Given the description of an element on the screen output the (x, y) to click on. 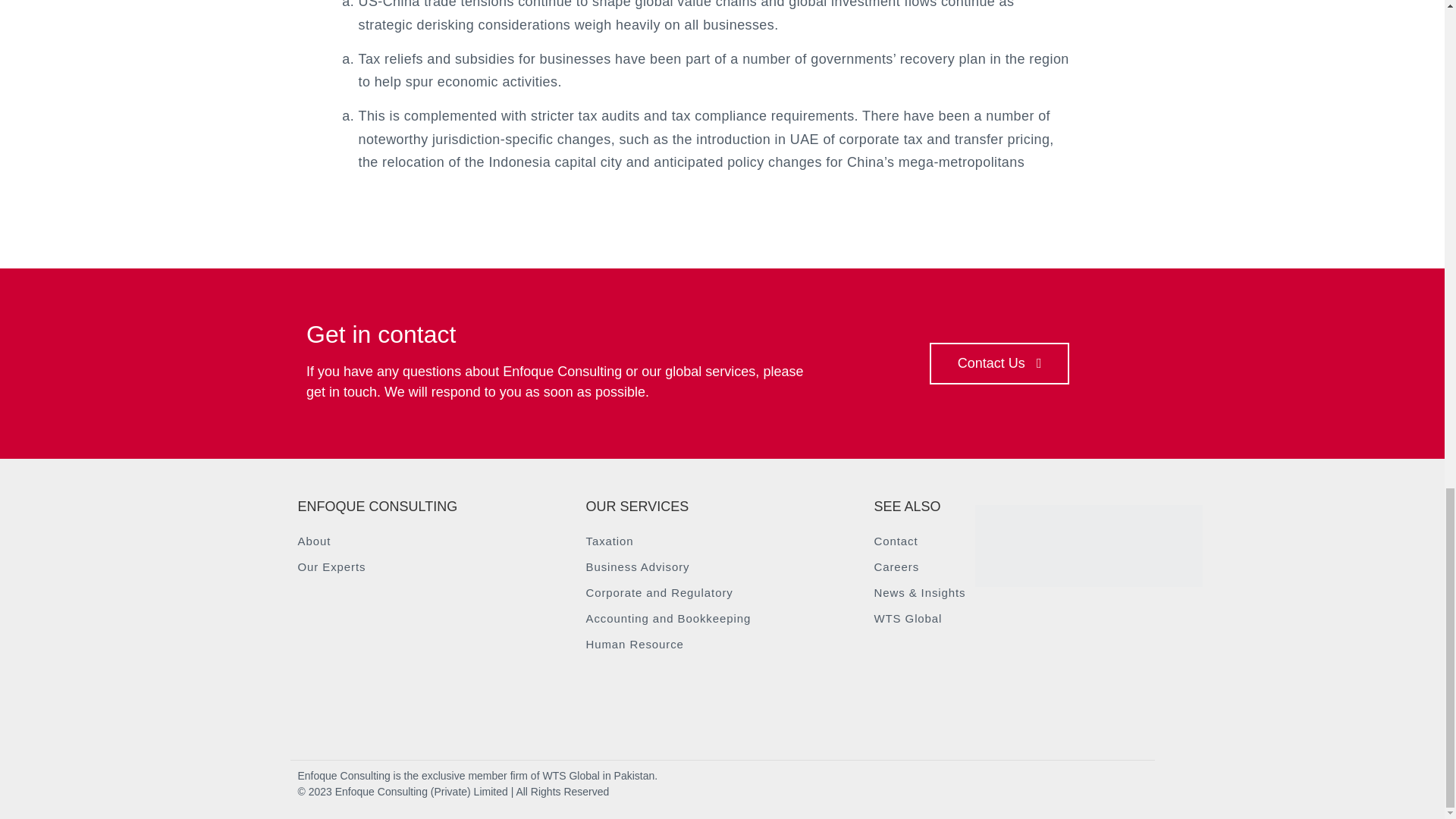
Our Experts (433, 566)
Corporate and Regulatory (722, 592)
Contact Us (1000, 363)
Accounting and Bookkeeping (722, 618)
Business Advisory (722, 566)
Taxation (722, 541)
About (433, 541)
